Given the description of an element on the screen output the (x, y) to click on. 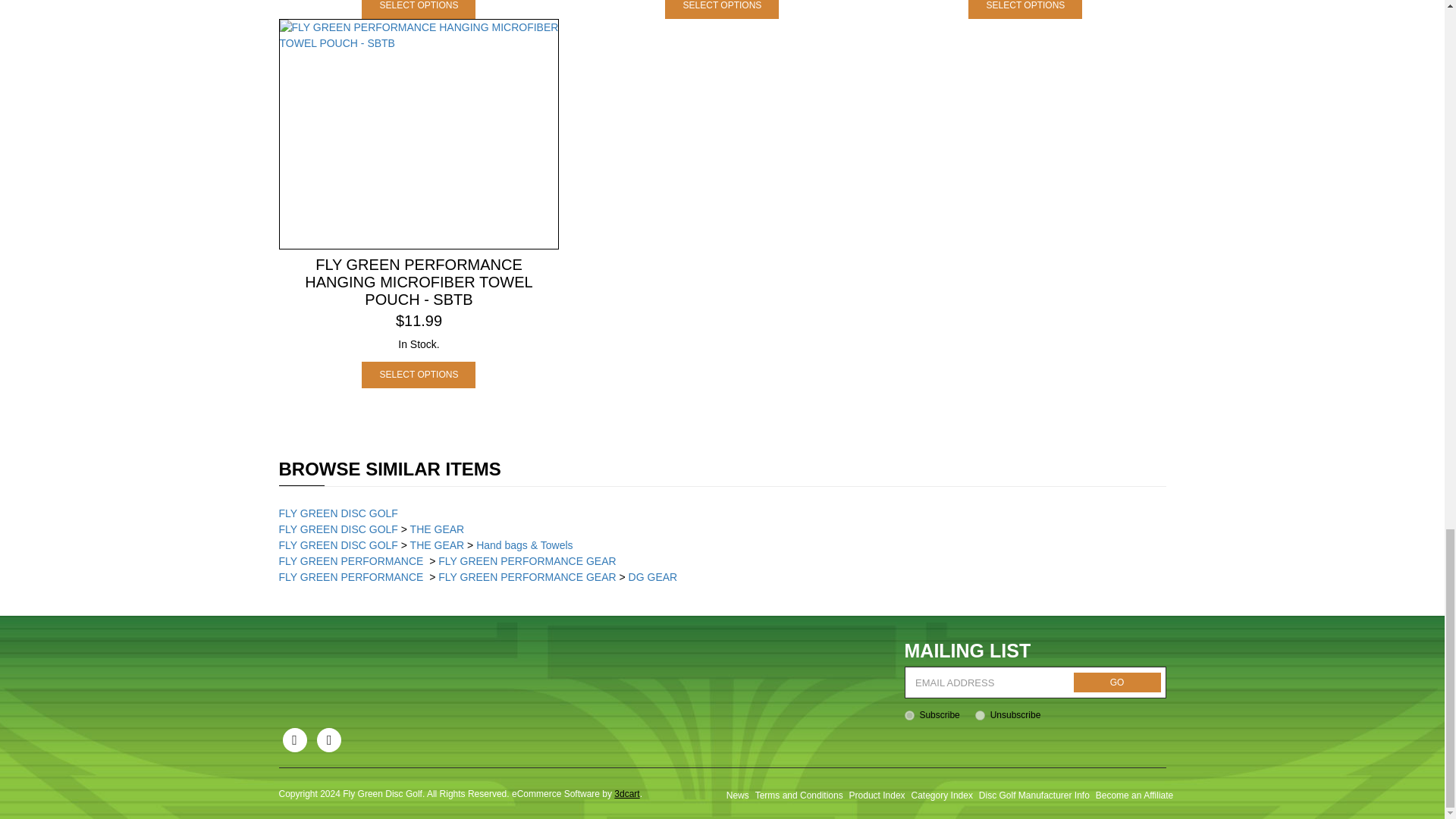
Follow Us on Instagram (328, 740)
Like Us on Facebook (293, 740)
0 (980, 715)
1 (909, 715)
